Given the description of an element on the screen output the (x, y) to click on. 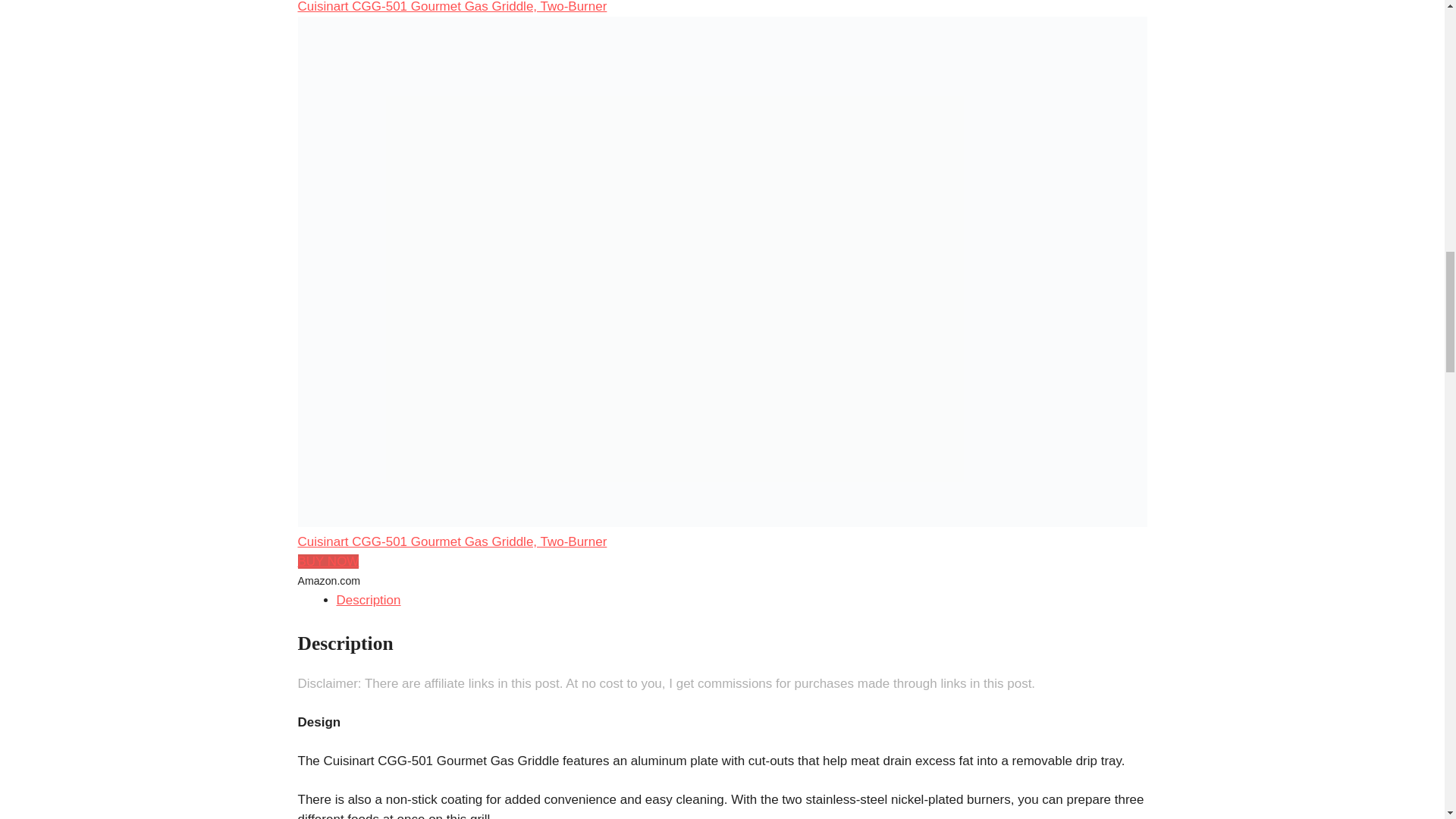
Cuisinart CGG-501 Gourmet Gas Griddle, Two-Burner (452, 6)
BUY NOW (327, 561)
Cuisinart CGG-501 Gourmet Gas Griddle, Two-Burner (452, 541)
